Given the description of an element on the screen output the (x, y) to click on. 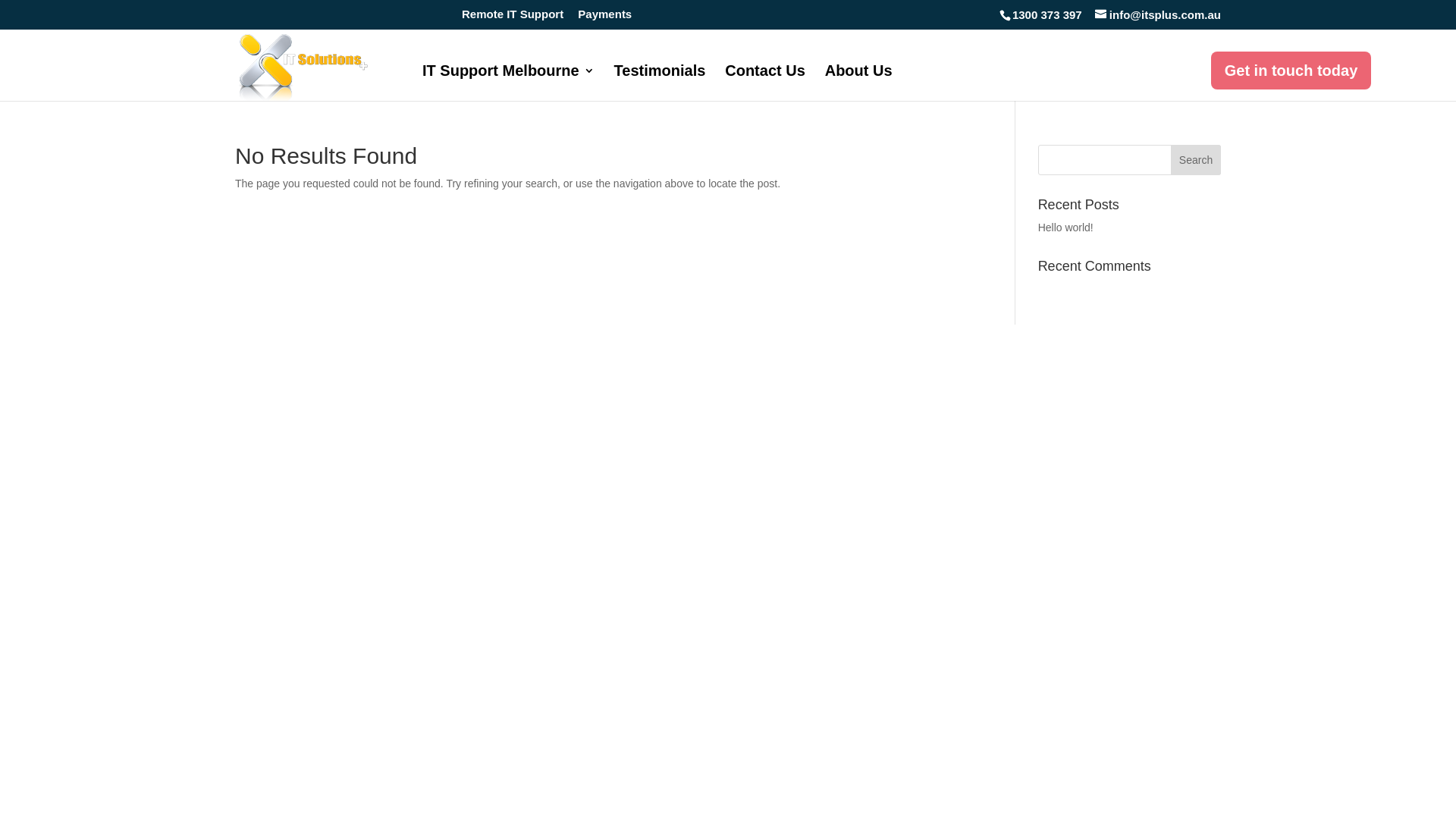
Contact Us Element type: text (764, 82)
Remote IT Support Element type: text (512, 18)
Get in touch today Element type: text (1291, 70)
info@itsplus.com.au Element type: text (1157, 14)
Testimonials Element type: text (660, 82)
About Us Element type: text (858, 82)
1300 373 397 Element type: text (1045, 14)
Hello world! Element type: text (1065, 227)
Search Element type: text (1195, 159)
Payments Element type: text (604, 18)
IT Support Melbourne Element type: text (508, 82)
